Given the description of an element on the screen output the (x, y) to click on. 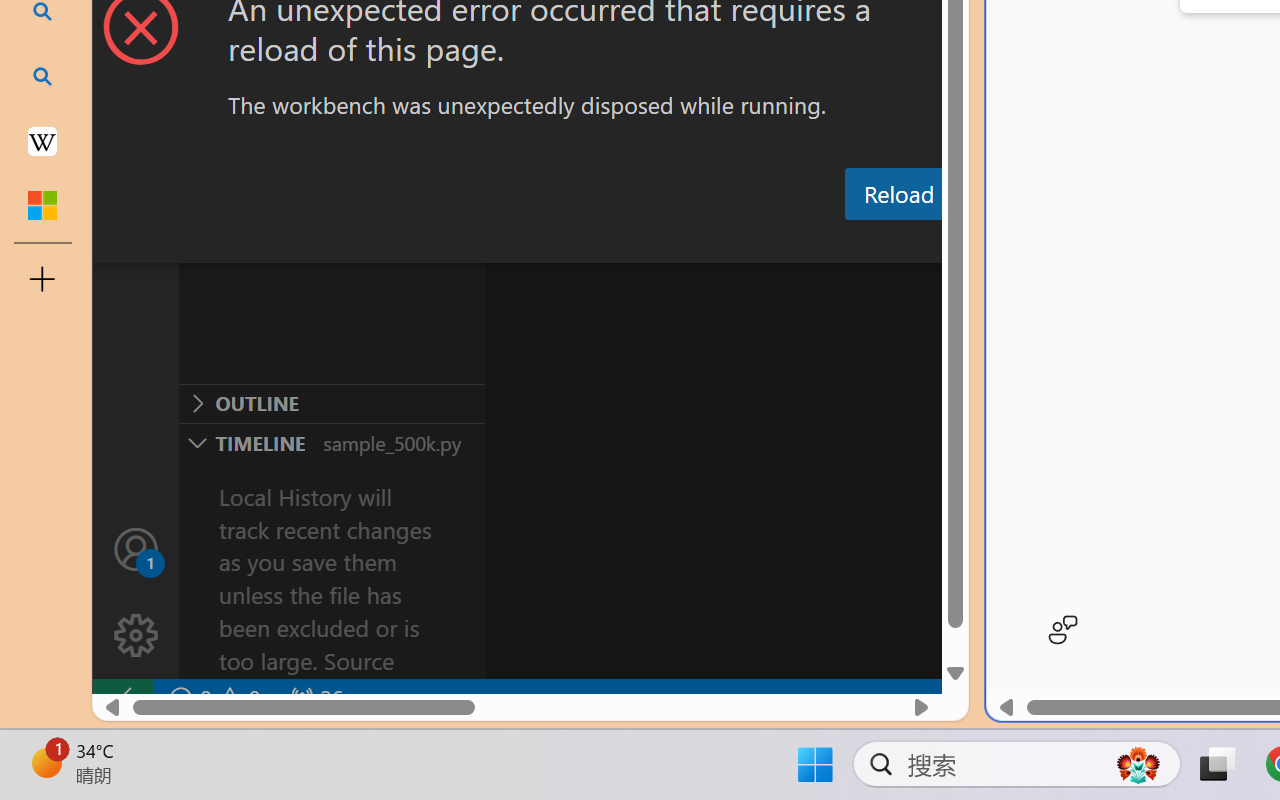
Manage (135, 635)
Output (Ctrl+Shift+U) (696, 243)
Terminal (Ctrl+`) (1021, 243)
Earth - Wikipedia (42, 140)
Reload (898, 193)
Outline Section (331, 403)
Timeline Section (331, 442)
No Problems (212, 698)
Debug Console (Ctrl+Shift+Y) (854, 243)
